Given the description of an element on the screen output the (x, y) to click on. 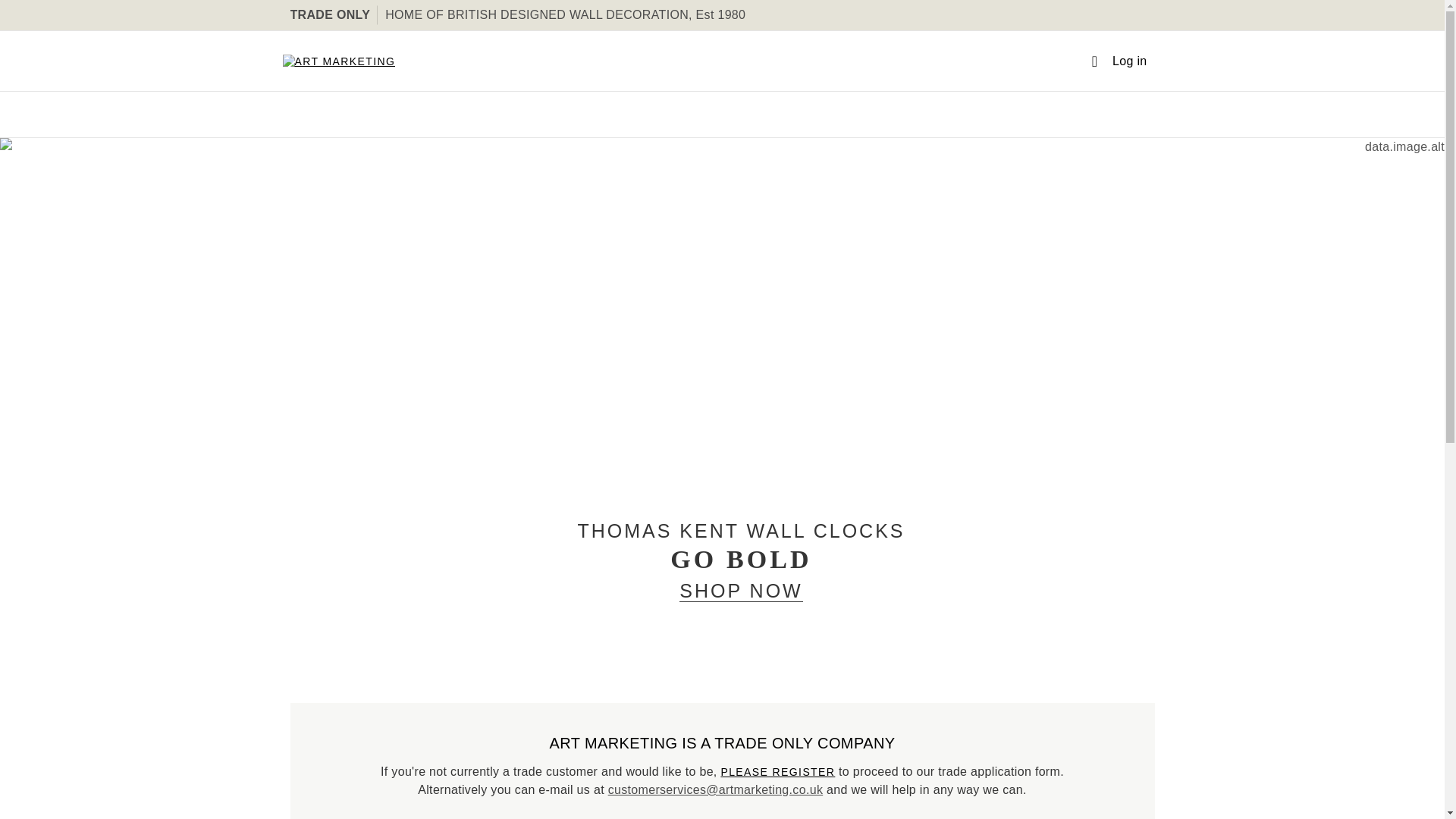
SHOP NOW (740, 591)
PLEASE REGISTER (777, 771)
Home Page (338, 61)
Log in (1119, 60)
SHOP NOW (740, 590)
